Given the description of an element on the screen output the (x, y) to click on. 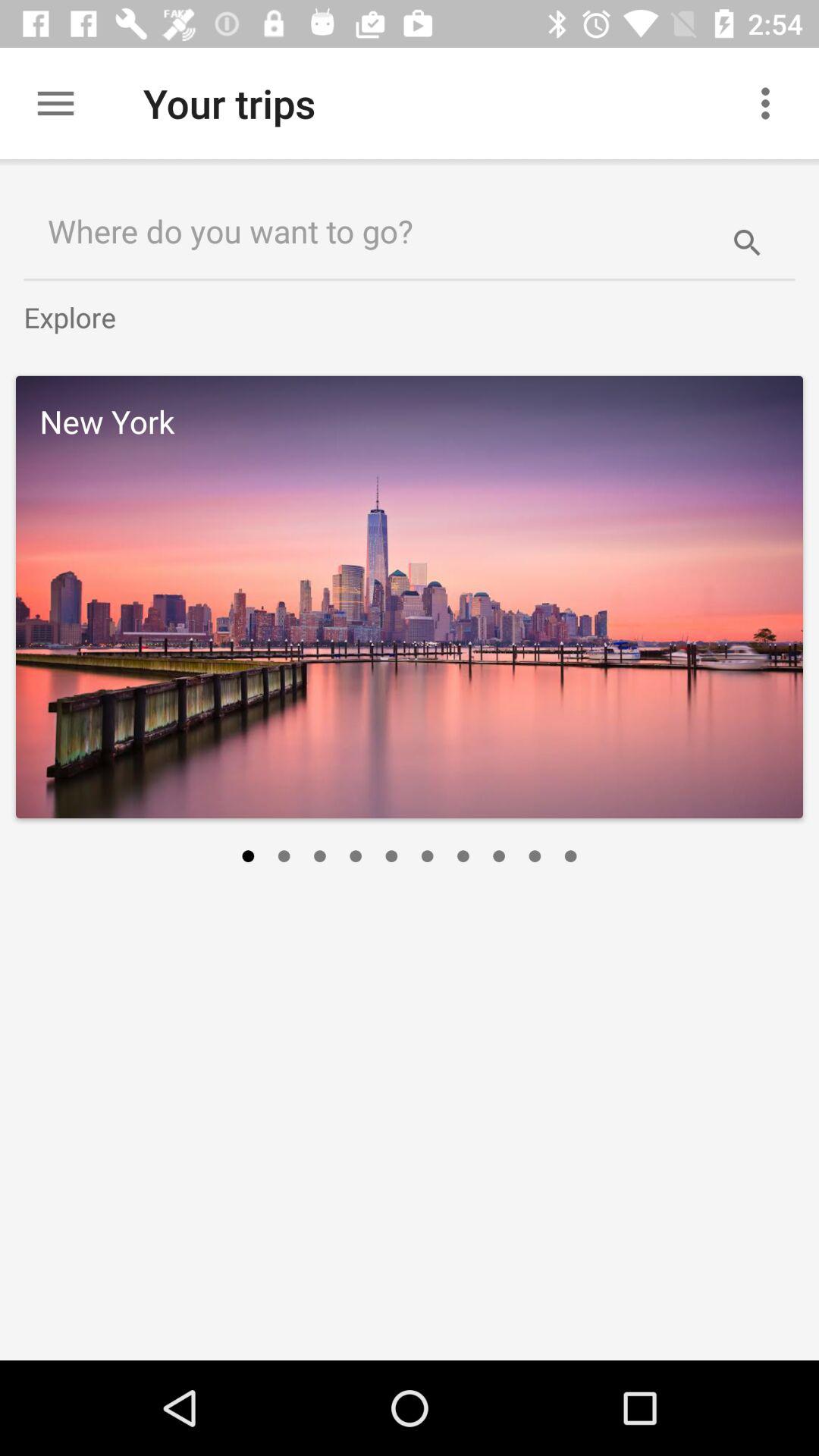
tap item on the left (248, 856)
